Given the description of an element on the screen output the (x, y) to click on. 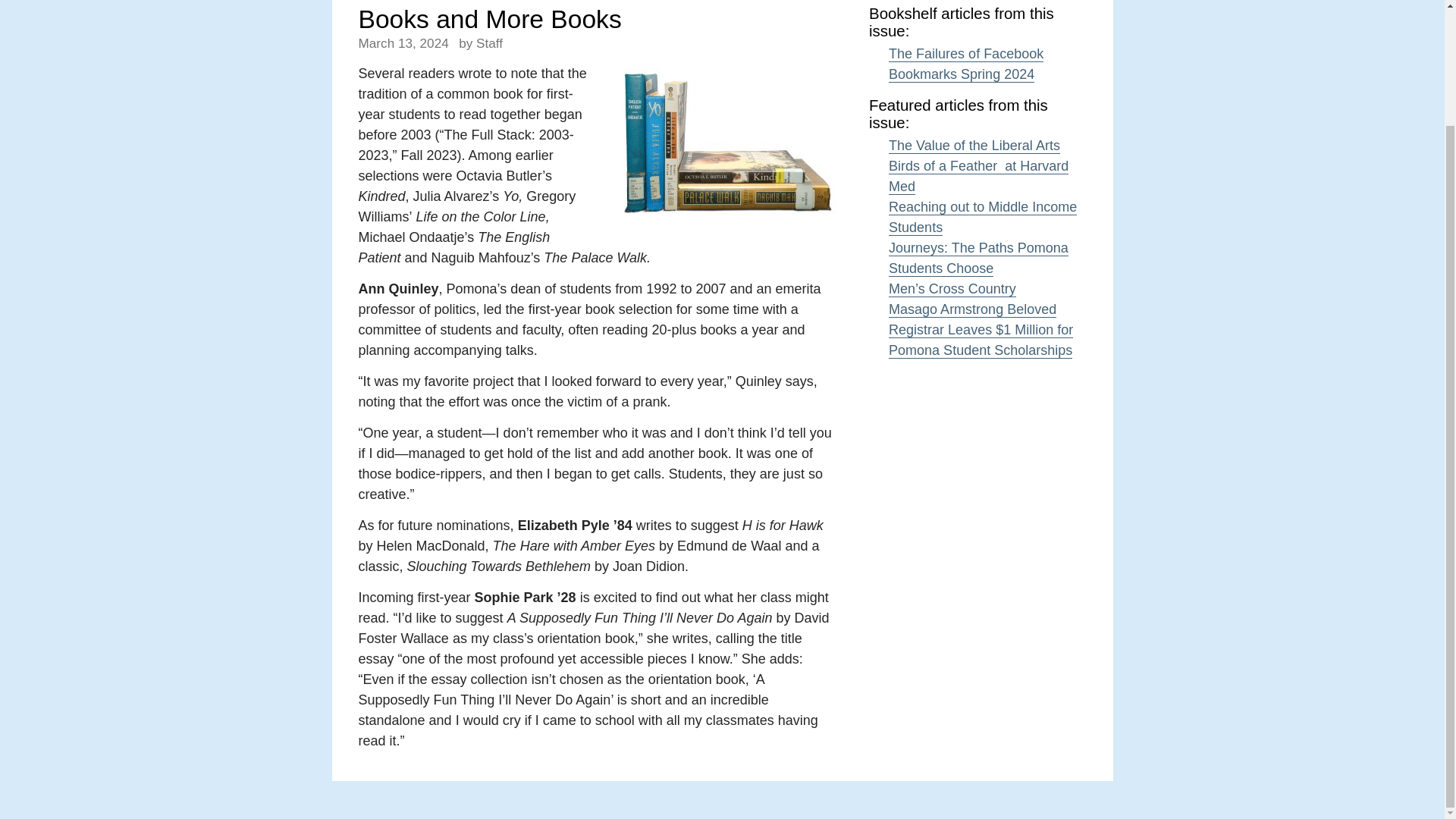
The Value of the Liberal Arts (973, 145)
Reaching out to Middle Income Students (982, 217)
The Failures of Facebook (965, 53)
Journeys: The Paths Pomona Students Choose (978, 258)
Bookmarks Spring 2024 (960, 74)
Birds of a Feather at Harvard Med (978, 176)
